Given the description of an element on the screen output the (x, y) to click on. 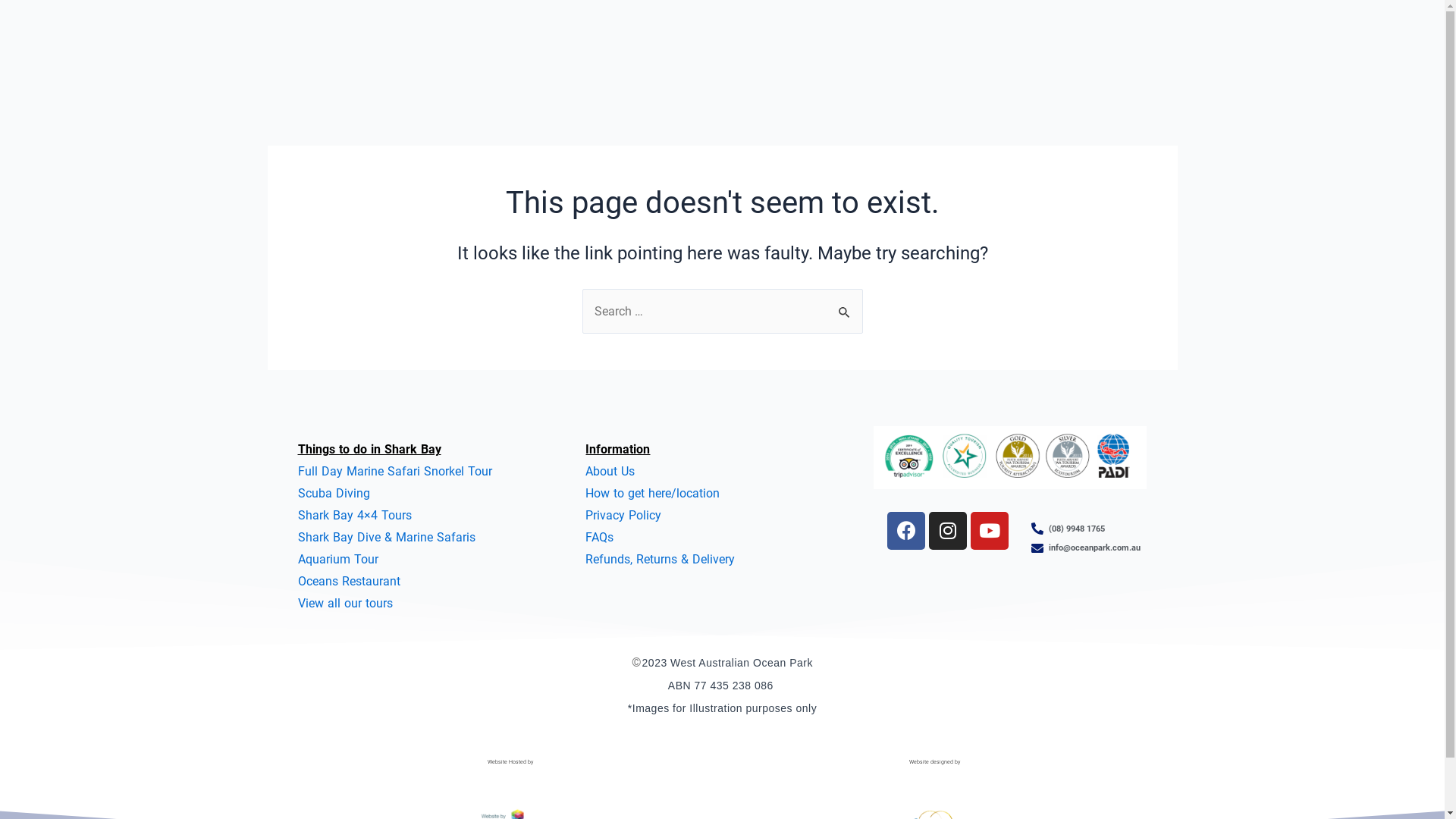
Shark Bay Dive & Marine Safaris Element type: text (385, 537)
Oceans Restaurant Element type: text (348, 581)
Scuba Diving Element type: text (333, 493)
Refunds, Returns & Delivery Element type: text (659, 559)
FAQs Element type: text (599, 537)
Aquarium Tour Element type: text (337, 559)
Search Element type: text (845, 304)
How to get here/location Element type: text (652, 493)
About Us Element type: text (609, 471)
Full Day Marine Safari Snorkel Tour Element type: text (394, 471)
Privacy Policy Element type: text (623, 515)
View all our tours Element type: text (344, 603)
